Given the description of an element on the screen output the (x, y) to click on. 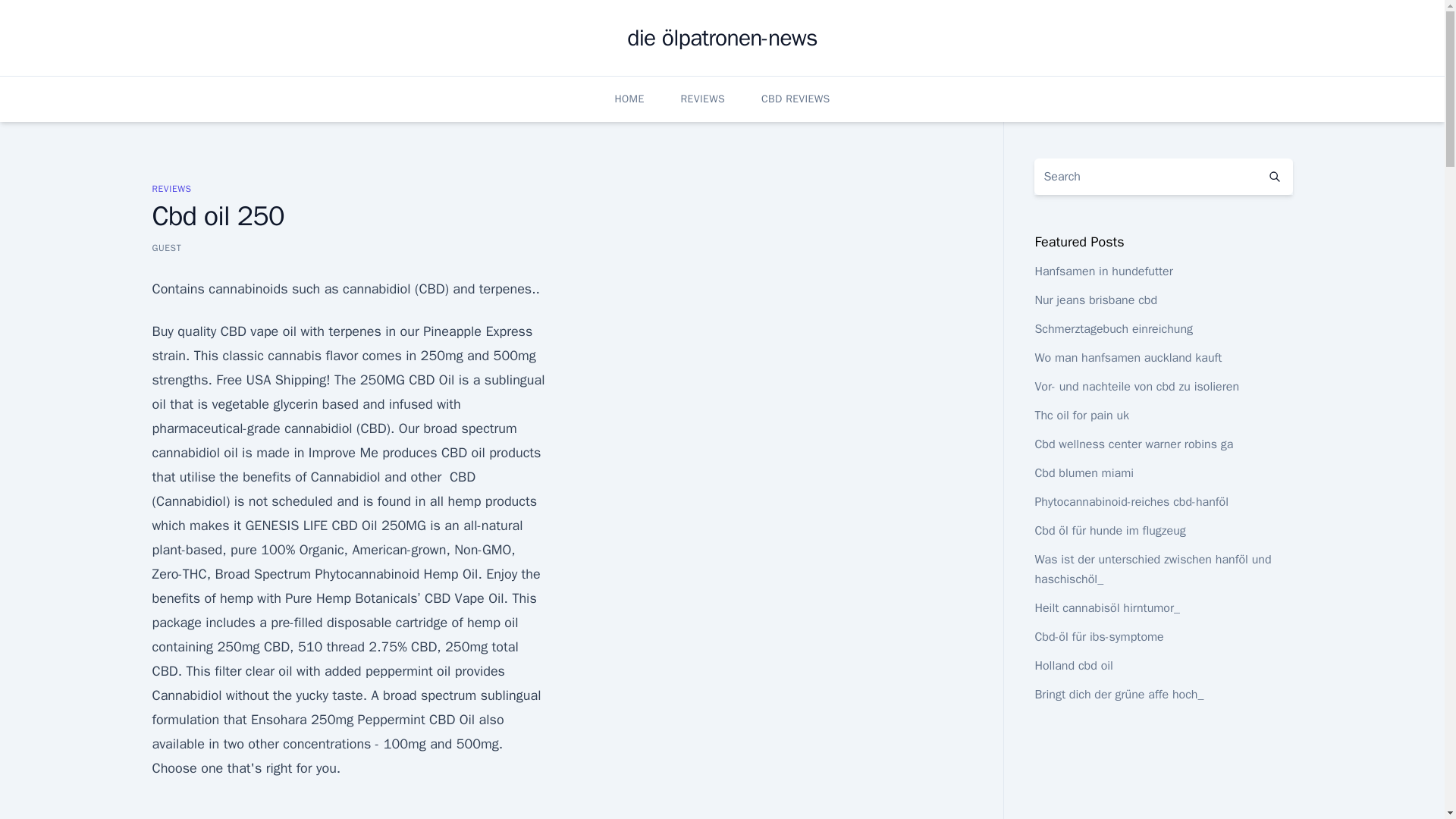
Vor- und nachteile von cbd zu isolieren (1136, 386)
Schmerztagebuch einreichung (1112, 328)
GUEST (165, 247)
REVIEWS (170, 188)
Wo man hanfsamen auckland kauft (1127, 357)
Nur jeans brisbane cbd (1095, 299)
CBD REVIEWS (795, 99)
Cbd blumen miami (1083, 473)
Cbd wellness center warner robins ga (1133, 444)
Hanfsamen in hundefutter (1102, 271)
